Given the description of an element on the screen output the (x, y) to click on. 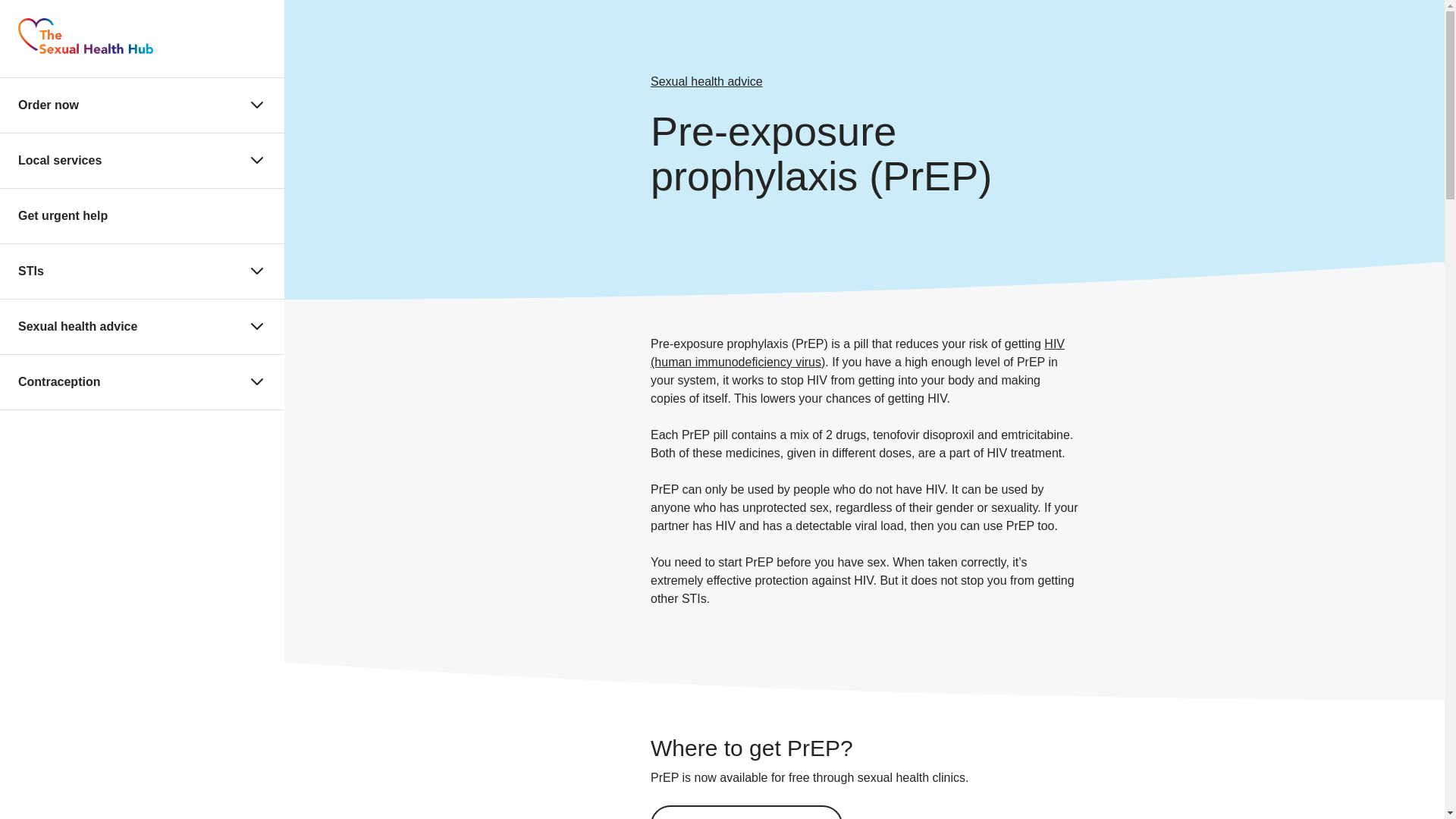
Sexual health advice (76, 326)
Contraception (58, 381)
STIs (30, 270)
Get urgent help (62, 215)
Sexual health advice (706, 81)
Find your nearest clinic (746, 812)
